Given the description of an element on the screen output the (x, y) to click on. 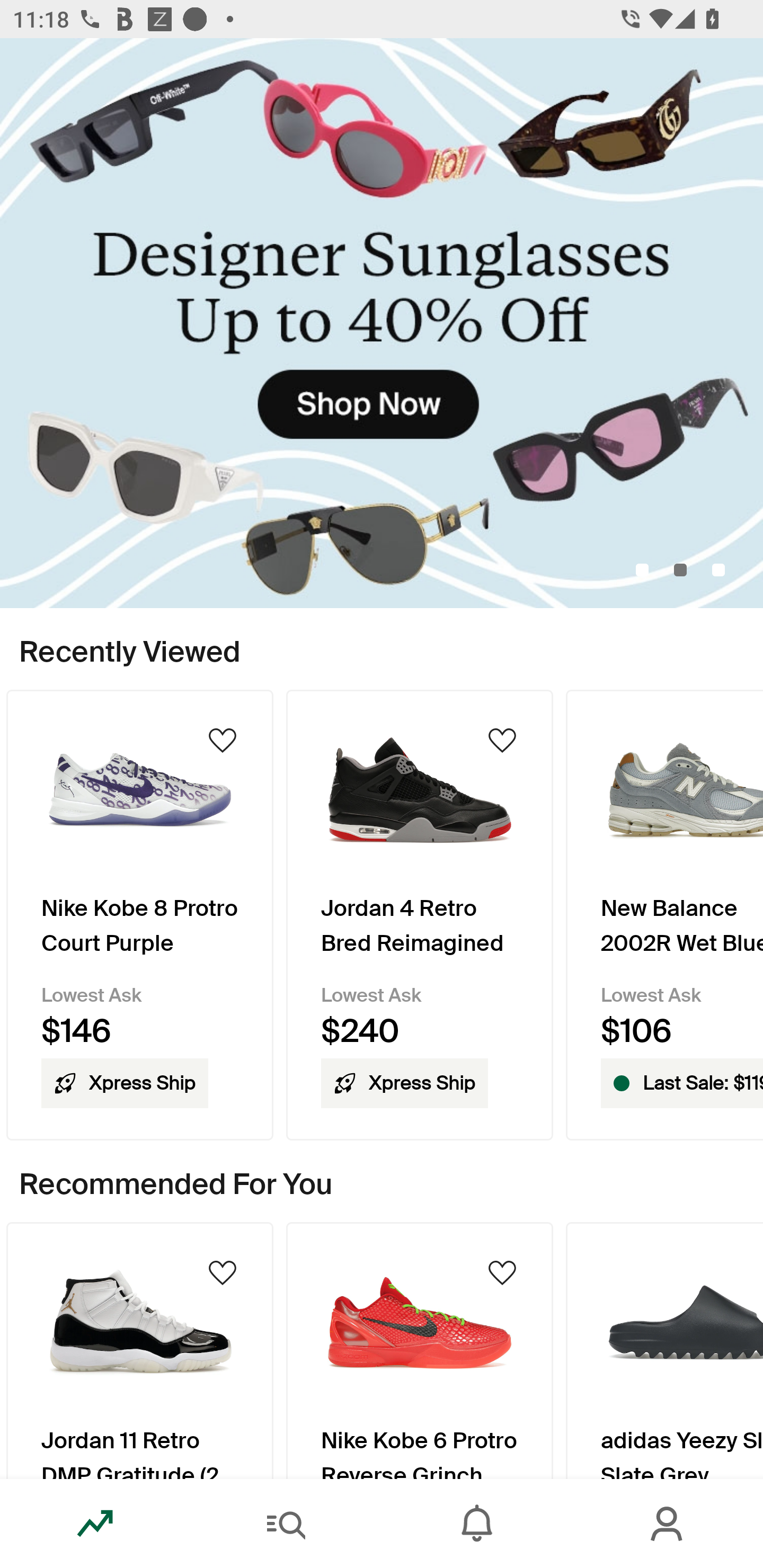
DesignerSunglassesUpto40_Off_Primary_Mobile.jpg (381, 322)
Product Image Jordan 11 Retro DMP Gratitude (2023) (139, 1349)
Product Image Nike Kobe 6 Protro Reverse Grinch (419, 1349)
Product Image adidas Yeezy Slide Slate Grey (664, 1349)
Search (285, 1523)
Inbox (476, 1523)
Account (667, 1523)
